Given the description of an element on the screen output the (x, y) to click on. 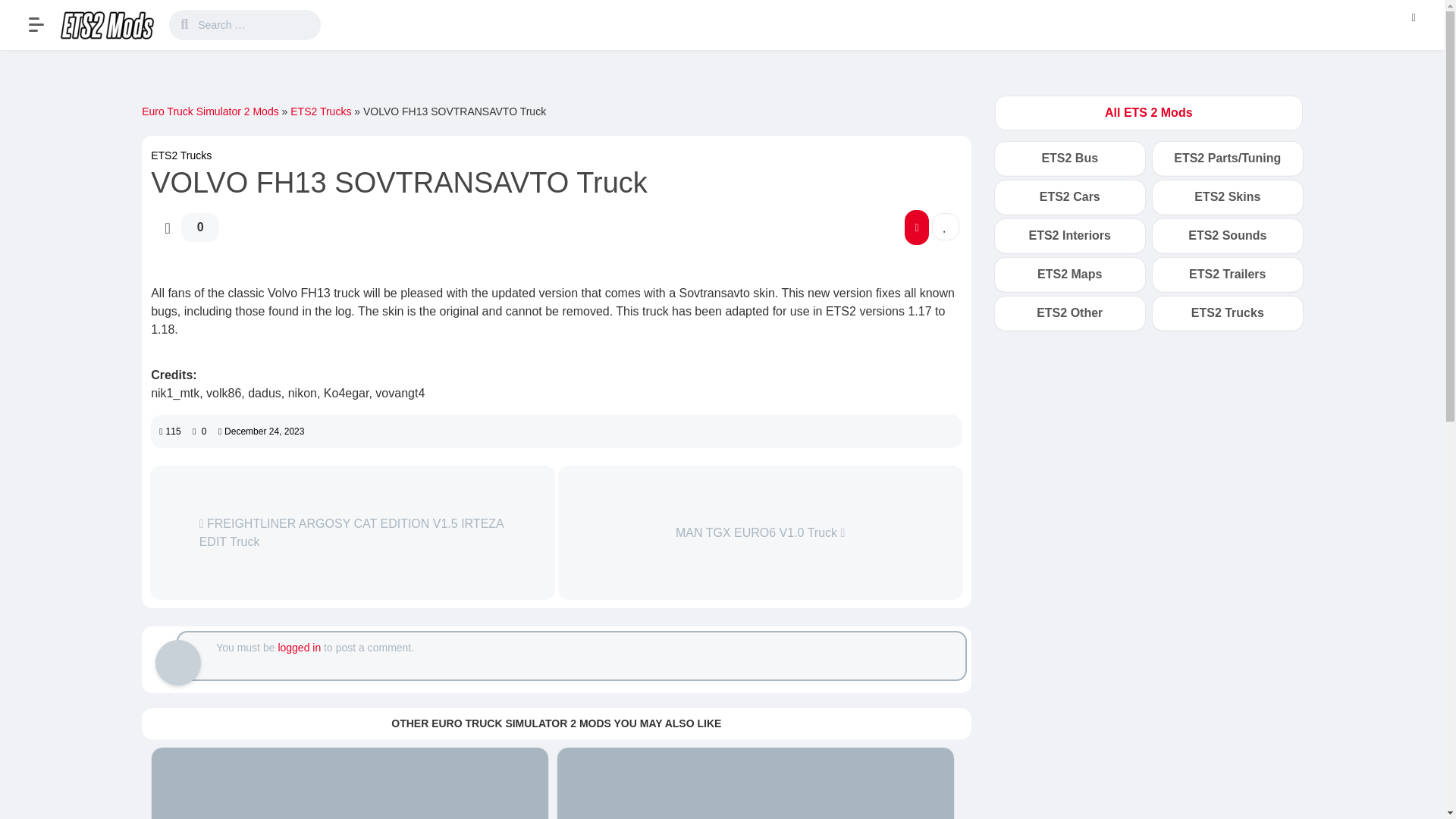
All ETS 2 Mods (1148, 112)
Euro Truck Simulator 2 Mods (210, 111)
MAN TGX EURO6 V1.0 Truck (759, 533)
ETS2 Trucks (181, 155)
FREIGHTLINER ARGOSY CAT EDITION V1.5 IRTEZA EDIT Truck (352, 533)
ETS2 Mods (107, 24)
logged in (299, 647)
ETS2 Trucks (319, 111)
Search for: (256, 24)
FREIGHTLINER CASCADIA  1.31.X TRUCK MOD (349, 783)
